Given the description of an element on the screen output the (x, y) to click on. 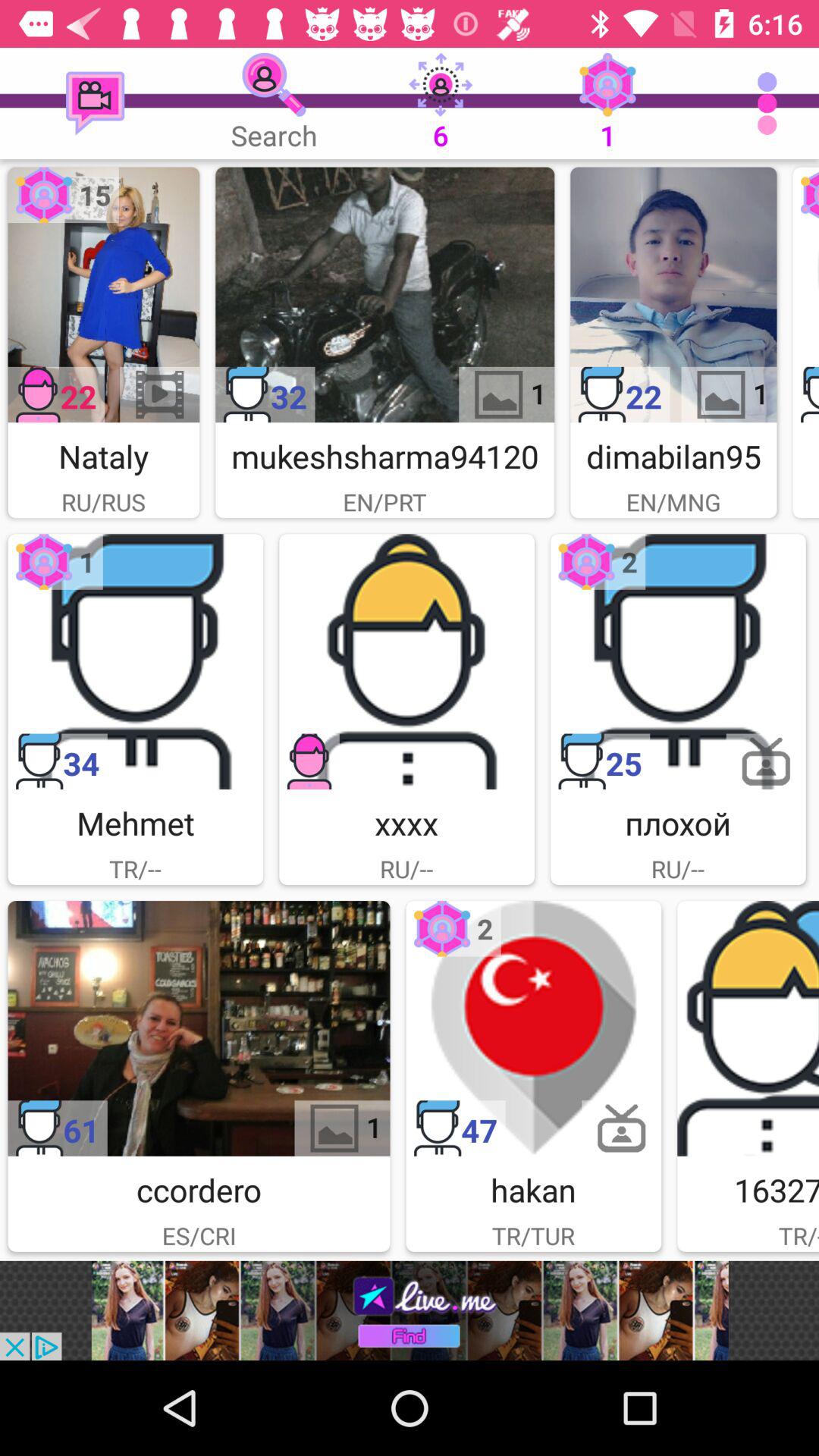
video chat person (103, 294)
